Given the description of an element on the screen output the (x, y) to click on. 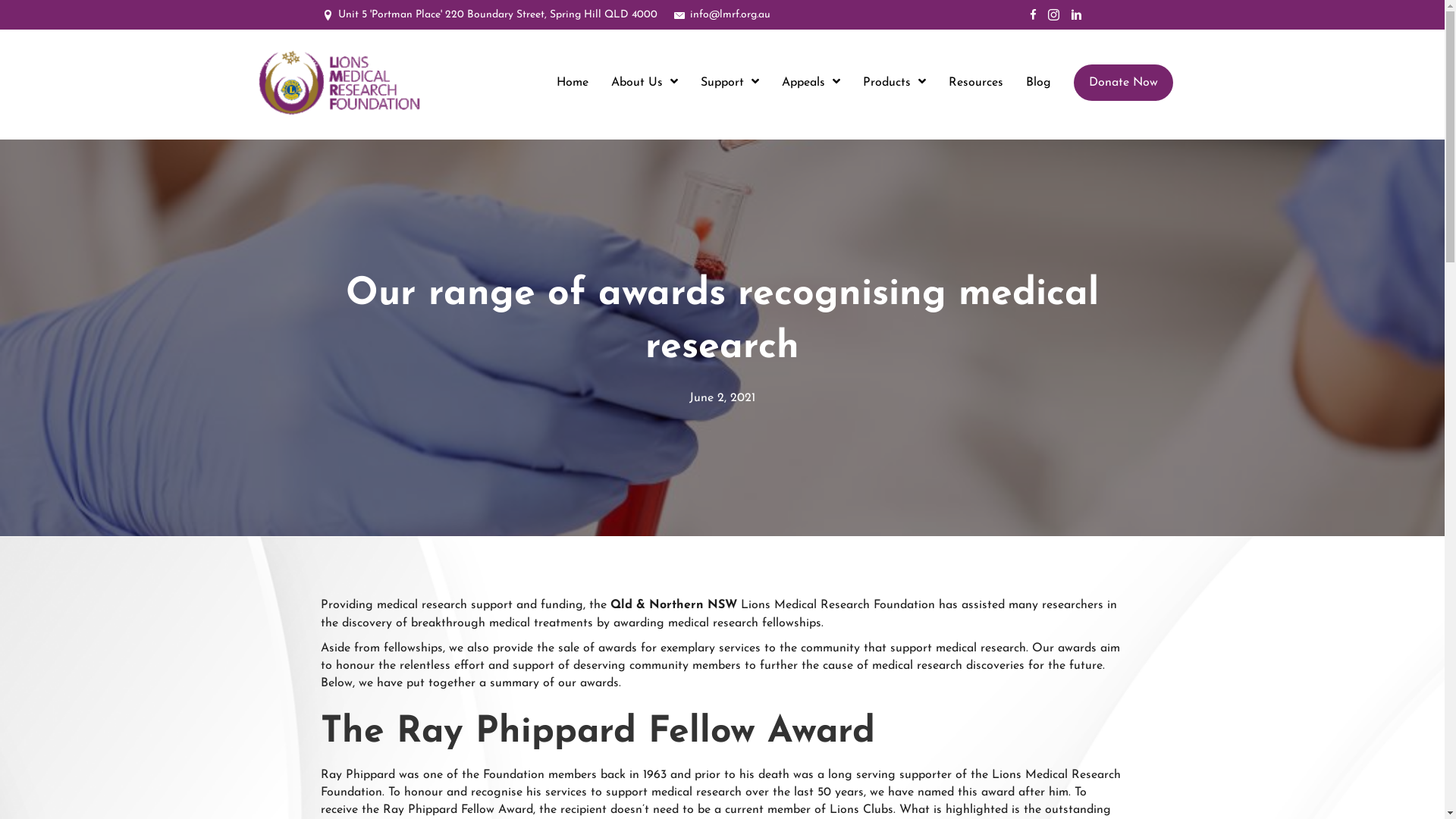
Appeals Element type: text (810, 82)
Blog Element type: text (1037, 82)
Donate Now Element type: text (1123, 82)
Home Element type: text (572, 82)
Donate Now Element type: text (1125, 82)
Products Element type: text (894, 82)
Resources Element type: text (975, 82)
Support Element type: text (729, 82)
info@lmrf.org.au Element type: text (730, 14)
About Us Element type: text (644, 82)
